Given the description of an element on the screen output the (x, y) to click on. 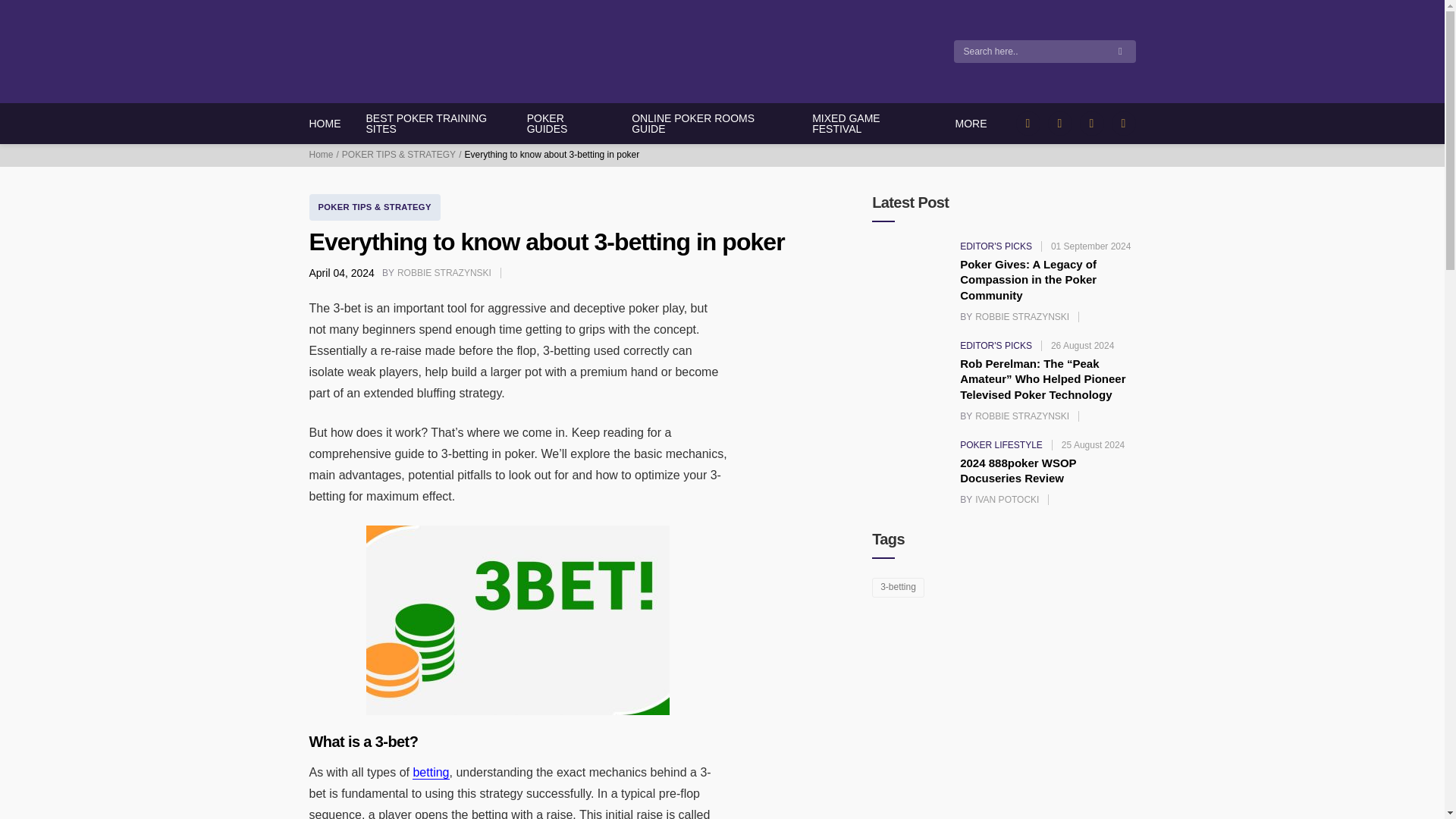
betting (446, 272)
POKER GUIDES (430, 772)
MORE (565, 123)
Home (971, 123)
BEST POKER TRAINING SITES (325, 155)
HOME (439, 123)
MIXED GAME FESTIVAL (324, 123)
ONLINE POKER ROOMS GUIDE (869, 123)
